Given the description of an element on the screen output the (x, y) to click on. 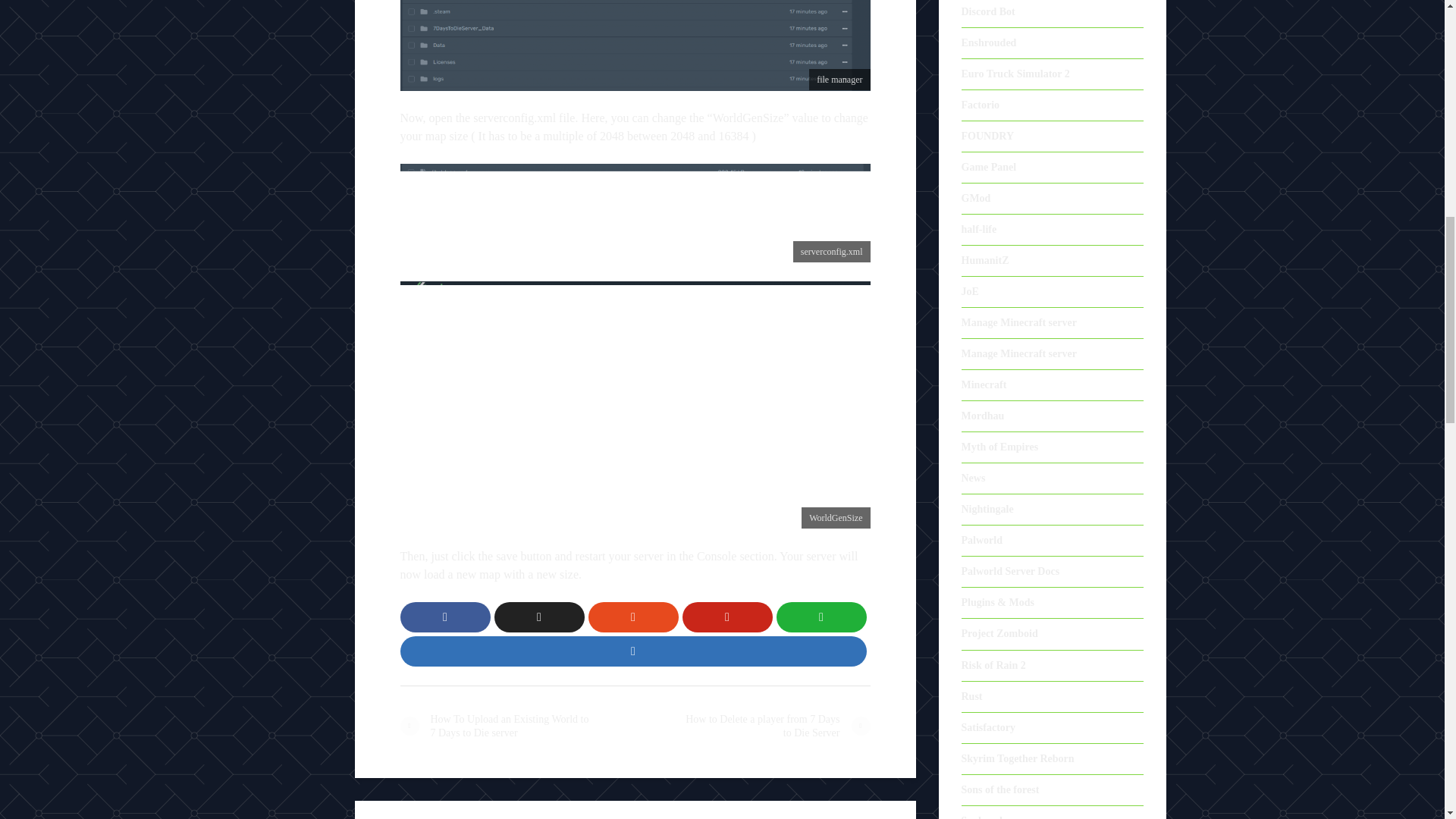
How To Upload an Existing World to 7 Days to Die server (517, 726)
How to Delete a player from 7 Days to Die Server (752, 726)
